Given the description of an element on the screen output the (x, y) to click on. 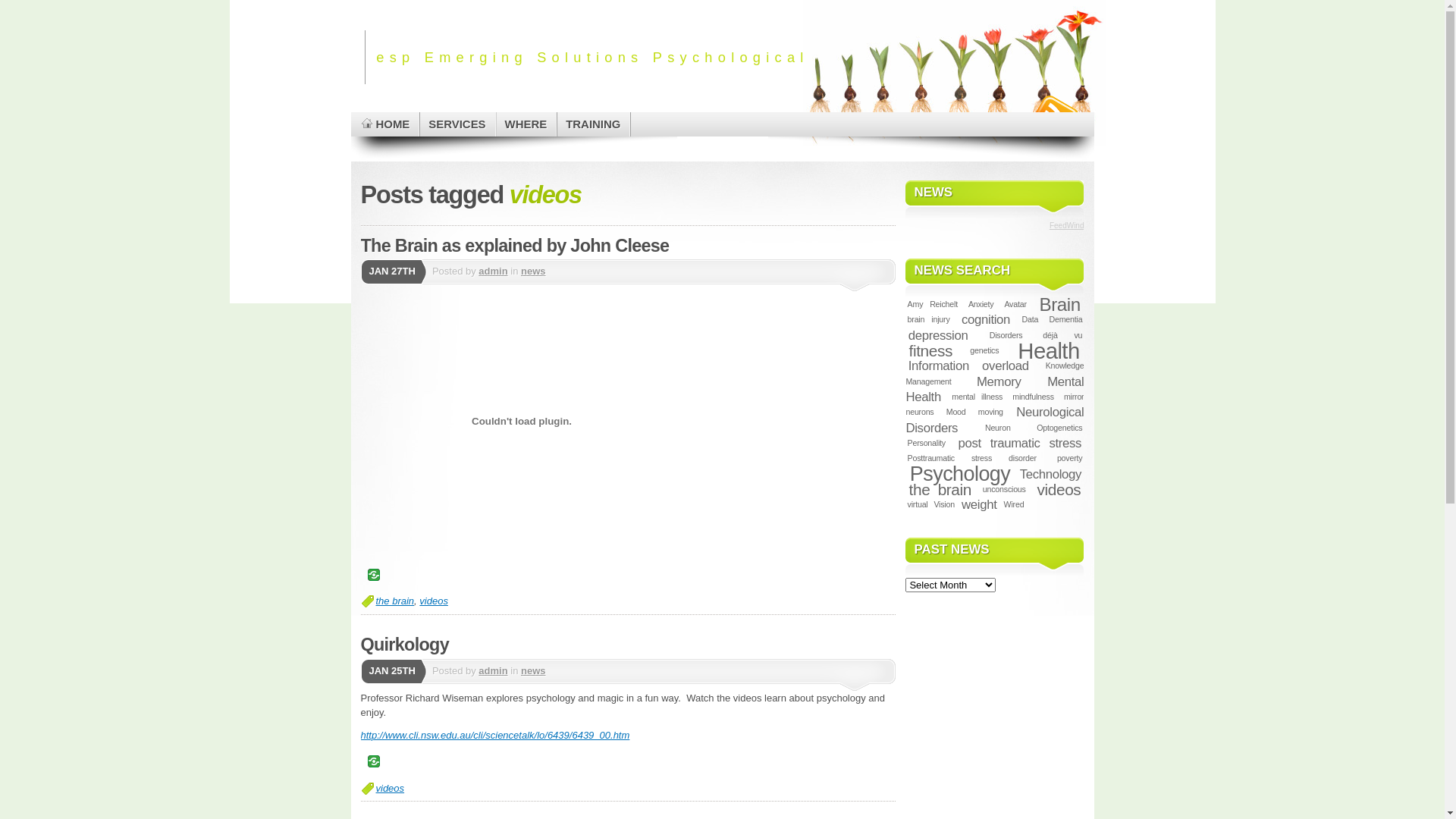
depression Element type: text (937, 335)
RSS Feeds Element type: hover (1053, 108)
Amy Reichelt Element type: text (932, 303)
Psychology Element type: text (959, 473)
weight Element type: text (979, 504)
the brain Element type: text (939, 489)
Health Element type: text (1048, 350)
brain injury Element type: text (927, 318)
Quirkology Element type: text (404, 644)
Neuron Element type: text (997, 427)
TRAINING Element type: text (593, 124)
unconscious Element type: text (1004, 488)
virtual Element type: text (916, 503)
WHERE Element type: text (526, 124)
Data Element type: text (1029, 318)
mental illness Element type: text (977, 396)
Personality Element type: text (926, 442)
poverty Element type: text (1069, 457)
Disorders Element type: text (1006, 334)
Mental Health Element type: text (994, 389)
Brain Element type: text (1059, 304)
Technology Element type: text (1049, 474)
news Element type: text (533, 670)
Knowledge Management Element type: text (994, 372)
videos Element type: text (433, 600)
the brain Element type: text (395, 600)
Posttraumatic stress disorder Element type: text (971, 457)
admin Element type: text (492, 670)
Anxiety Element type: text (980, 303)
Mood Element type: text (955, 411)
moving Element type: text (990, 411)
genetics Element type: text (984, 349)
post traumatic stress Element type: text (1019, 443)
videos Element type: text (390, 787)
SERVICES Element type: text (457, 124)
fitness Element type: text (930, 350)
Avatar Element type: text (1015, 303)
mindfulness Element type: text (1032, 396)
Memory Element type: text (998, 381)
videos Element type: text (1058, 489)
cognition Element type: text (986, 319)
HOME Element type: text (384, 124)
Dementia Element type: text (1065, 318)
FeedWind Element type: text (1066, 225)
Wired Element type: text (1013, 503)
Information overload Element type: text (968, 365)
The Brain as explained by John Cleese Element type: text (514, 244)
Vision Element type: text (943, 503)
Optogenetics Element type: text (1059, 427)
admin Element type: text (492, 270)
Neurological Disorders Element type: text (994, 419)
mirror neurons Element type: text (994, 404)
news Element type: text (533, 270)
